Given the description of an element on the screen output the (x, y) to click on. 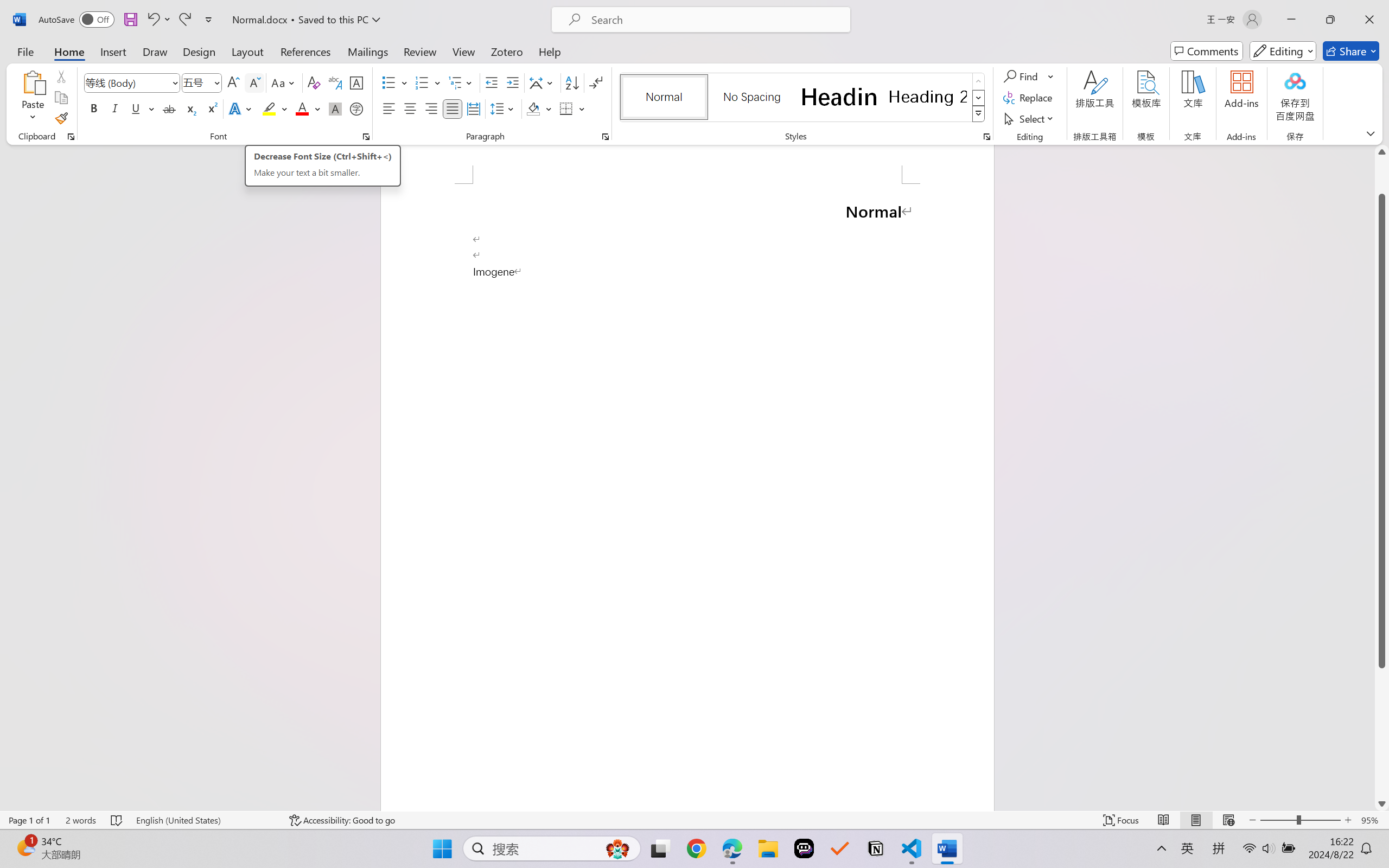
Microsoft search (715, 19)
Italic (115, 108)
Text Highlight Color (274, 108)
Page Number Page 1 of 1 (29, 819)
Line down (1382, 803)
Styles (978, 113)
Grow Font (233, 82)
Open (215, 82)
Replace... (1029, 97)
